Given the description of an element on the screen output the (x, y) to click on. 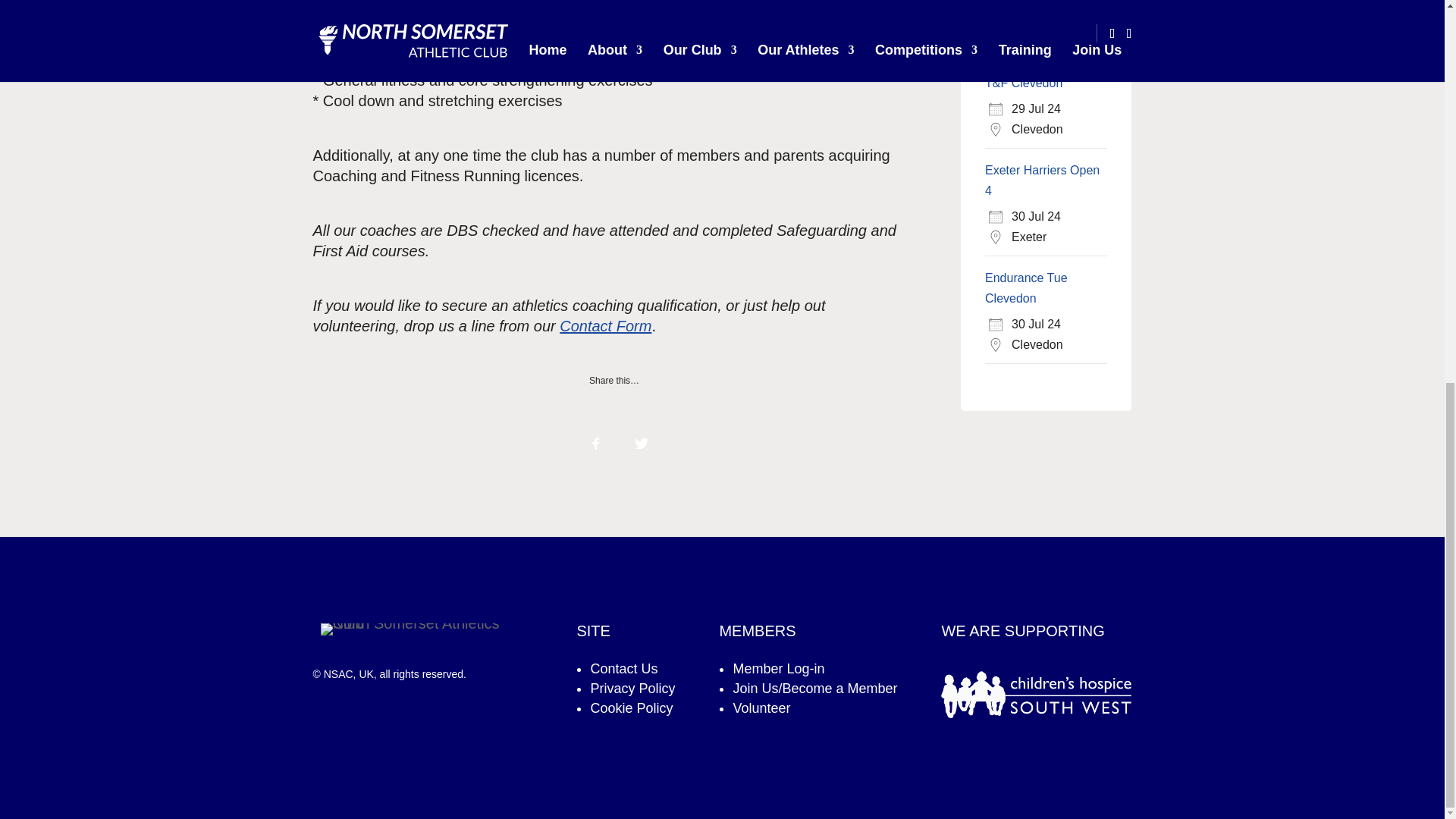
logo-v2 (422, 629)
